Given the description of an element on the screen output the (x, y) to click on. 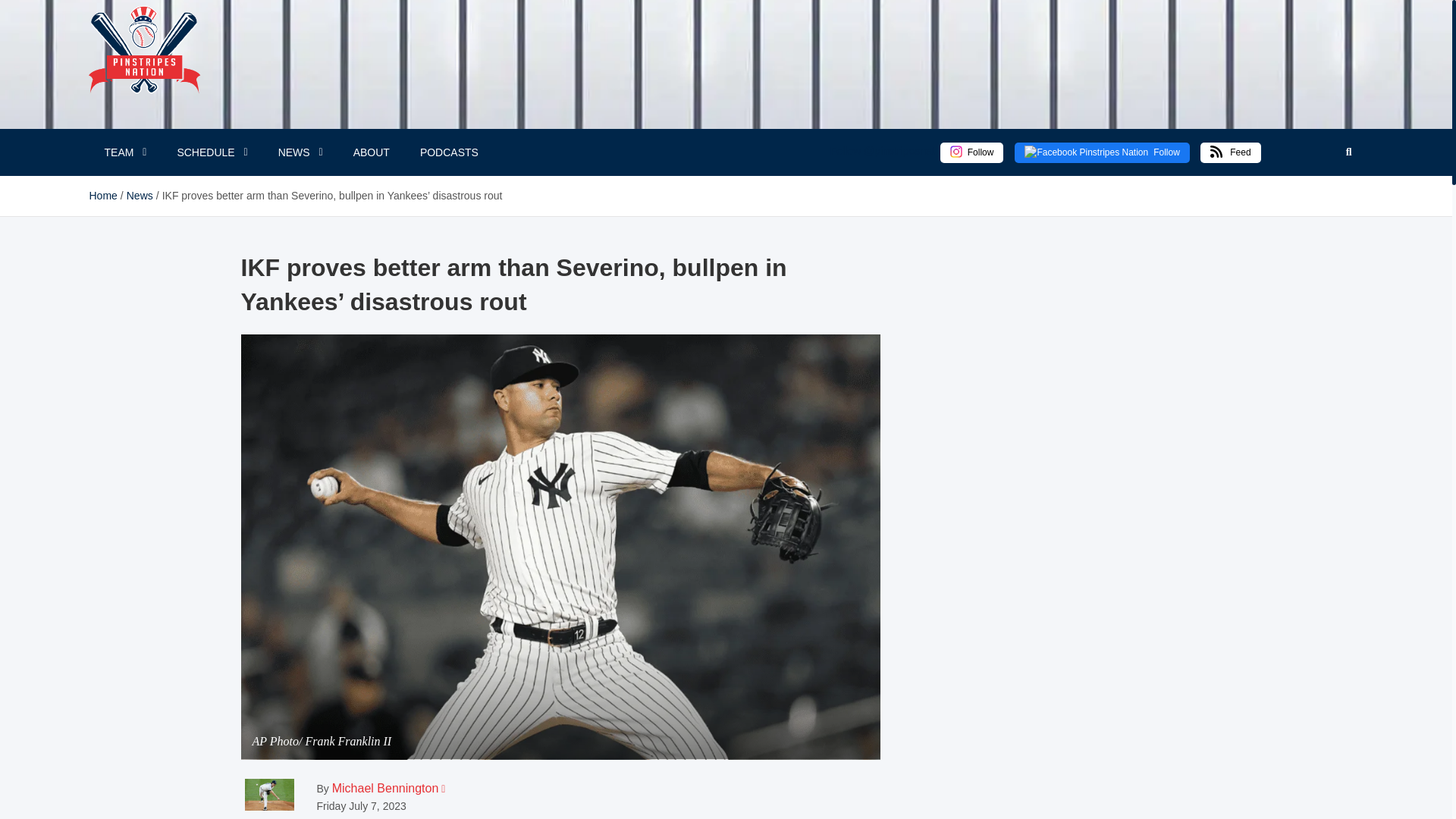
NEWS (300, 152)
PODCASTS (448, 152)
Pinstripes Nation (136, 86)
Michael Bennington (385, 788)
Follow (1101, 151)
Follow Pinstripes Nation's Page on Facebook (1101, 152)
News (139, 195)
Follow (977, 151)
Feed (1235, 151)
Follow (1101, 152)
Follow (972, 152)
TEAM (124, 152)
Follow Pinstripes Nation's Page on Instagram (972, 152)
ABOUT (370, 152)
Feed (1229, 152)
